Given the description of an element on the screen output the (x, y) to click on. 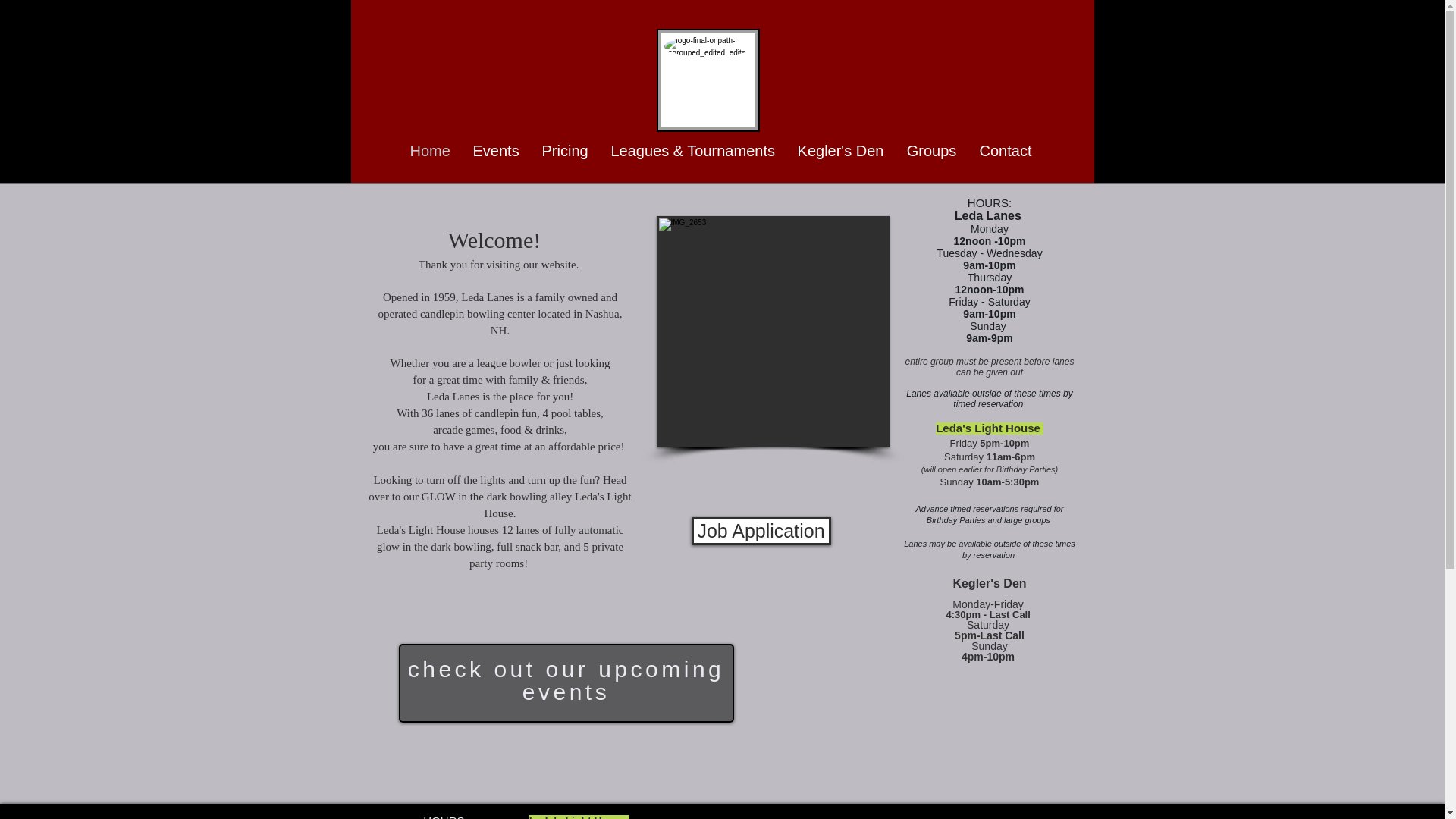
Job Application (761, 530)
Pricing (565, 151)
Contact (1005, 151)
Groups (931, 151)
check out our upcoming events (566, 680)
Home (429, 151)
Events (495, 151)
Kegler's Den (840, 151)
